Given the description of an element on the screen output the (x, y) to click on. 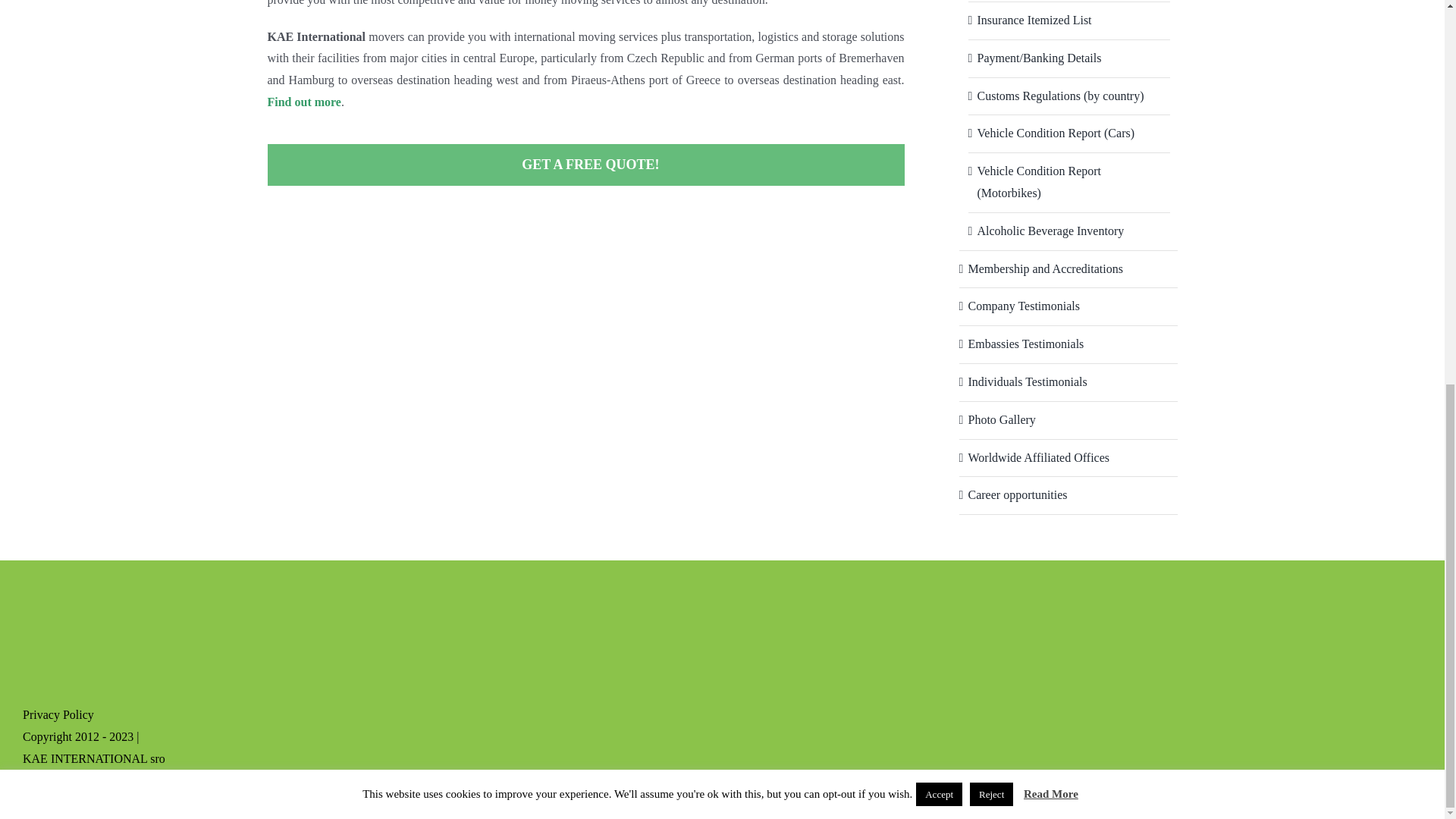
GET A FREE QUOTE! (585, 164)
